Given the description of an element on the screen output the (x, y) to click on. 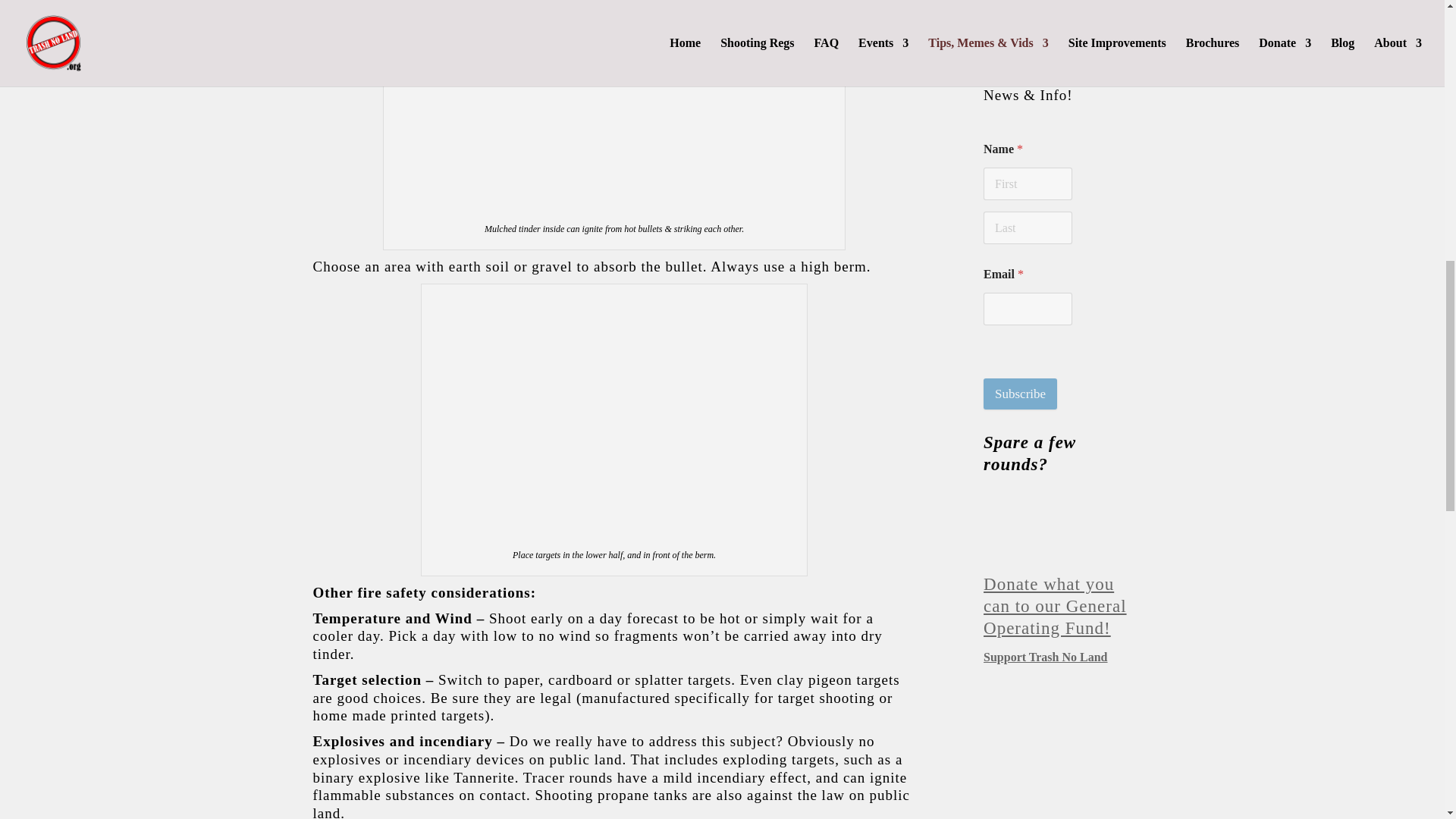
Donate what you can to our General Operating Fund! (1057, 594)
Support Trash No Land (1045, 656)
Hagelstein Recreation Restoration 7-13-24 (1045, 7)
Subscribe (1020, 393)
